Given the description of an element on the screen output the (x, y) to click on. 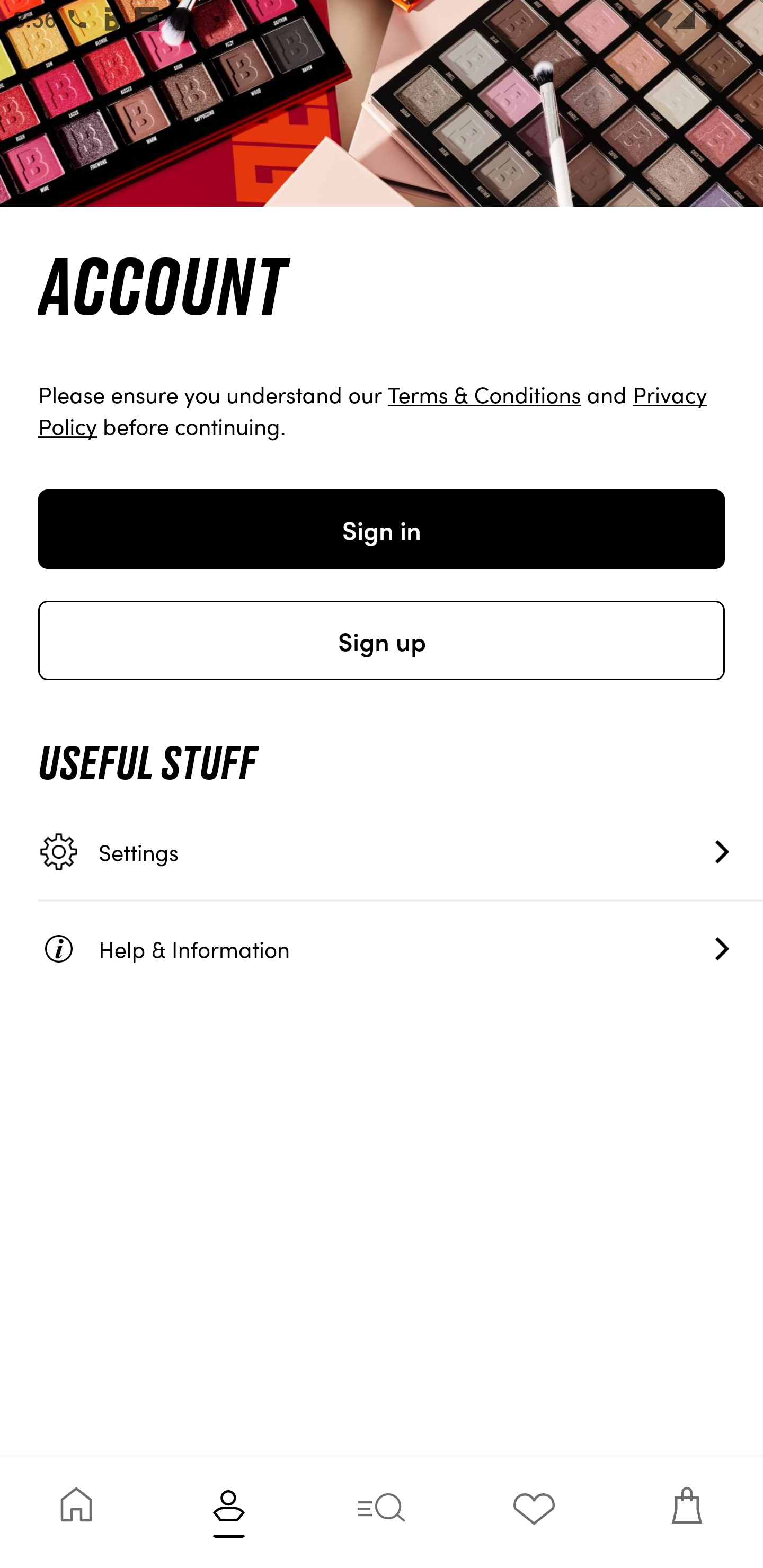
Sign in (381, 529)
Sign up (381, 640)
Settings (400, 852)
Help & Information (400, 948)
